Given the description of an element on the screen output the (x, y) to click on. 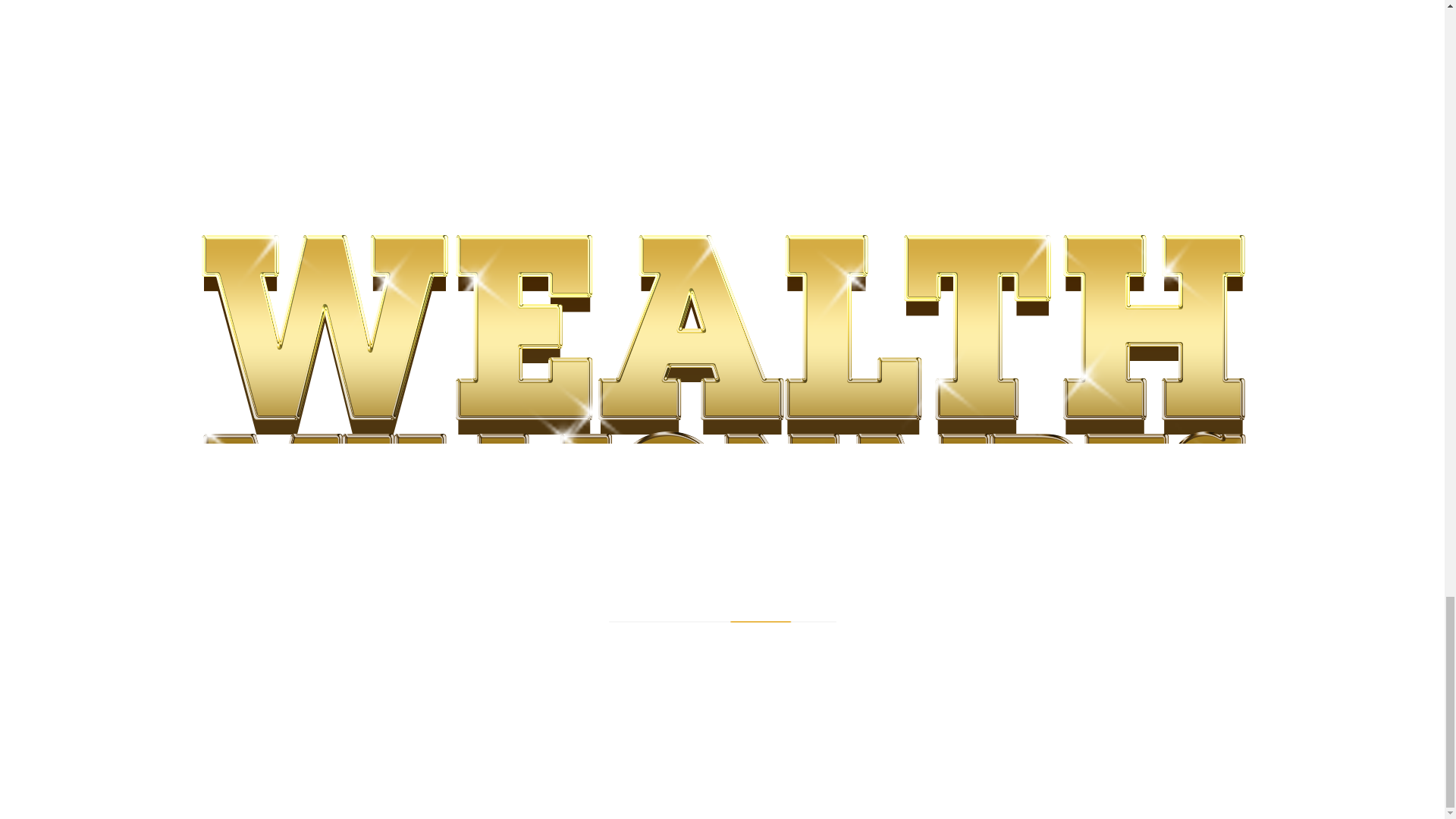
Send (349, 450)
yes (306, 415)
